Given the description of an element on the screen output the (x, y) to click on. 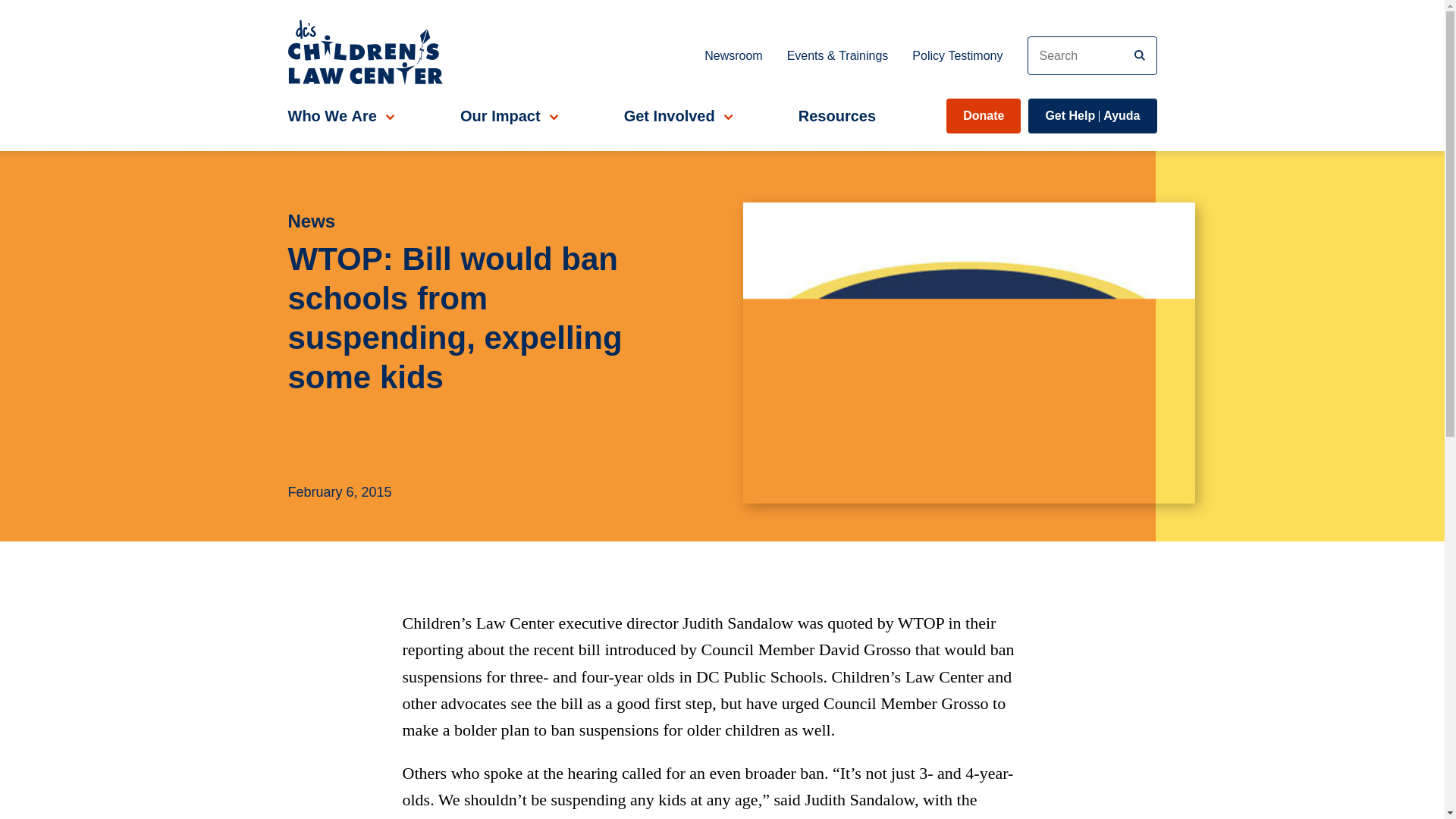
Newsroom (732, 54)
Who We Are (339, 115)
News (480, 220)
Get Involved (676, 115)
Donate (983, 115)
Resources (836, 115)
Policy Testimony (957, 54)
Our Impact (1091, 115)
Submit search (506, 115)
